Given the description of an element on the screen output the (x, y) to click on. 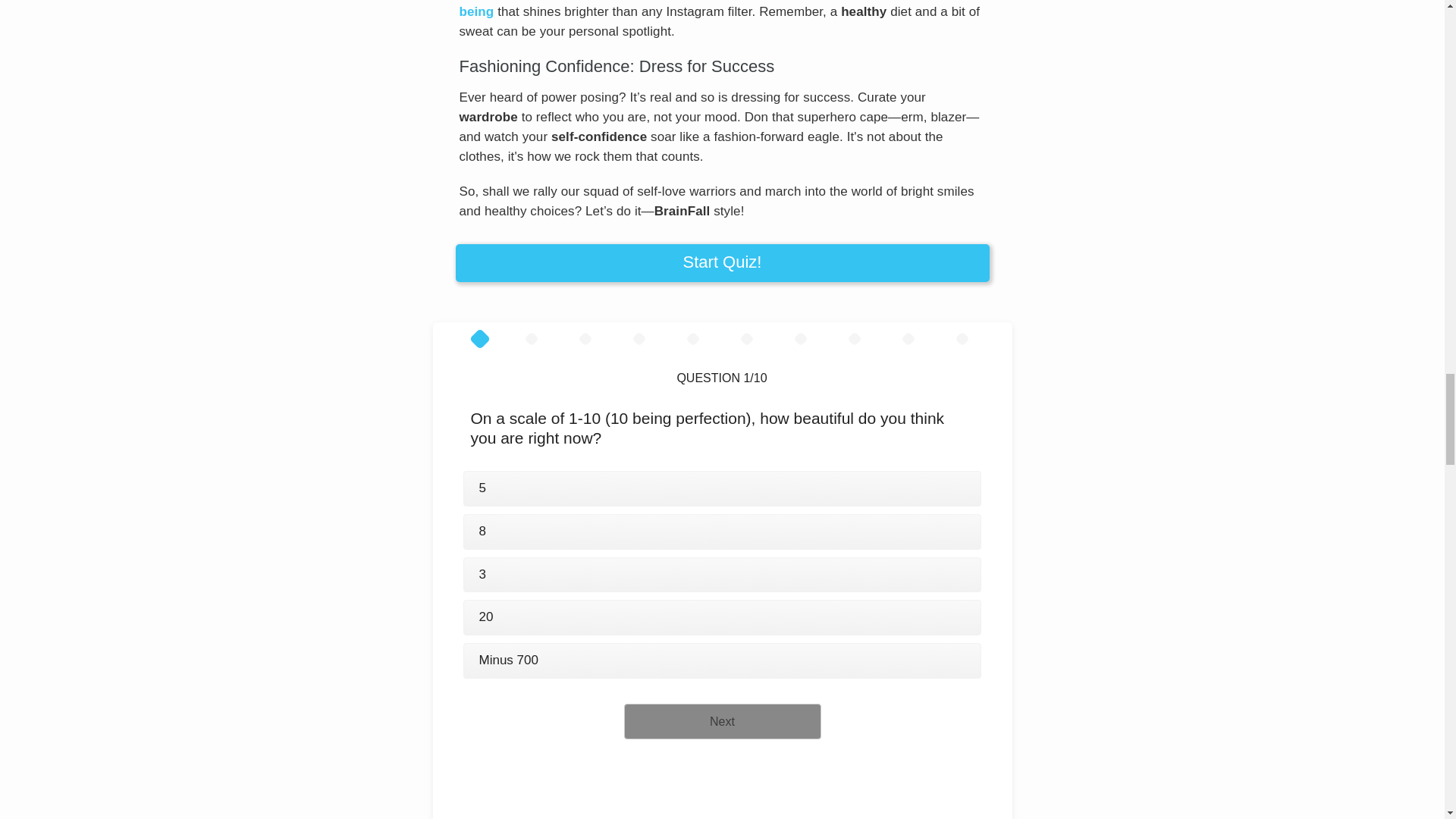
Start Quiz! (721, 262)
